Given the description of an element on the screen output the (x, y) to click on. 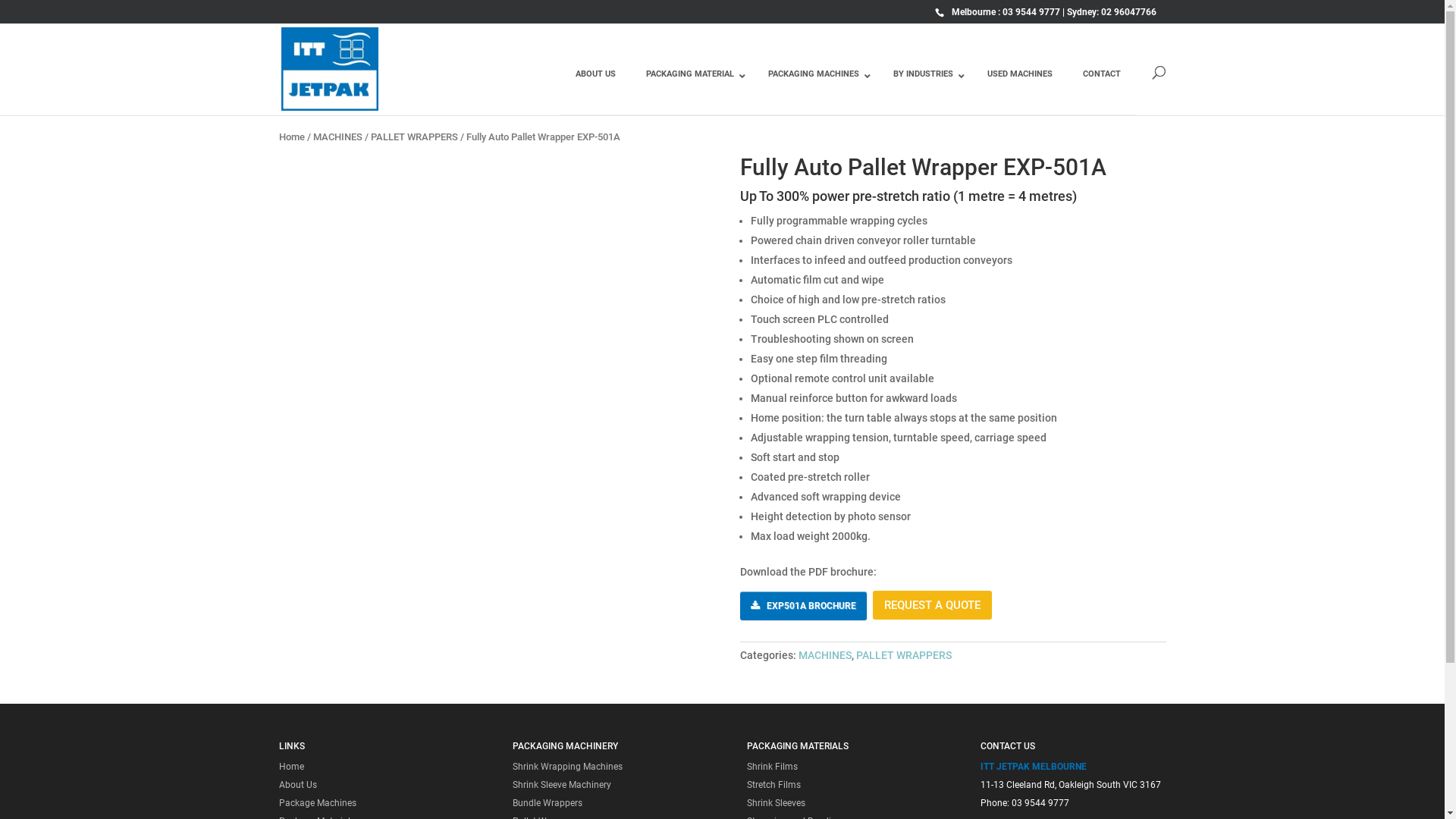
USED MACHINES Element type: text (1019, 85)
CONTACT Element type: text (1101, 85)
Home Element type: text (291, 766)
03 9544 9777 Element type: text (1031, 11)
Shrink Sleeve Machinery Element type: text (561, 784)
PACKAGING MATERIAL Element type: text (691, 85)
Shrink Films Element type: text (771, 766)
MACHINES Element type: text (824, 655)
BY INDUSTRIES Element type: text (925, 85)
EXP501A BROCHURE Element type: text (803, 605)
Home Element type: text (291, 136)
Bundle Wrappers Element type: text (547, 802)
REQUEST A QUOTE Element type: text (931, 604)
PALLET WRAPPERS Element type: text (903, 655)
Shrink Wrapping Machines Element type: text (567, 766)
ABOUT US Element type: text (594, 85)
MACHINES Element type: text (336, 136)
Package Machines Element type: text (317, 802)
PALLET WRAPPERS Element type: text (413, 136)
02 96047766 Element type: text (1128, 11)
Stretch Films Element type: text (773, 784)
Shrink Sleeves Element type: text (775, 802)
ITT JETPAK MELBOURNE Element type: text (1033, 766)
PACKAGING MACHINES Element type: text (814, 85)
About Us Element type: text (297, 784)
